Given the description of an element on the screen output the (x, y) to click on. 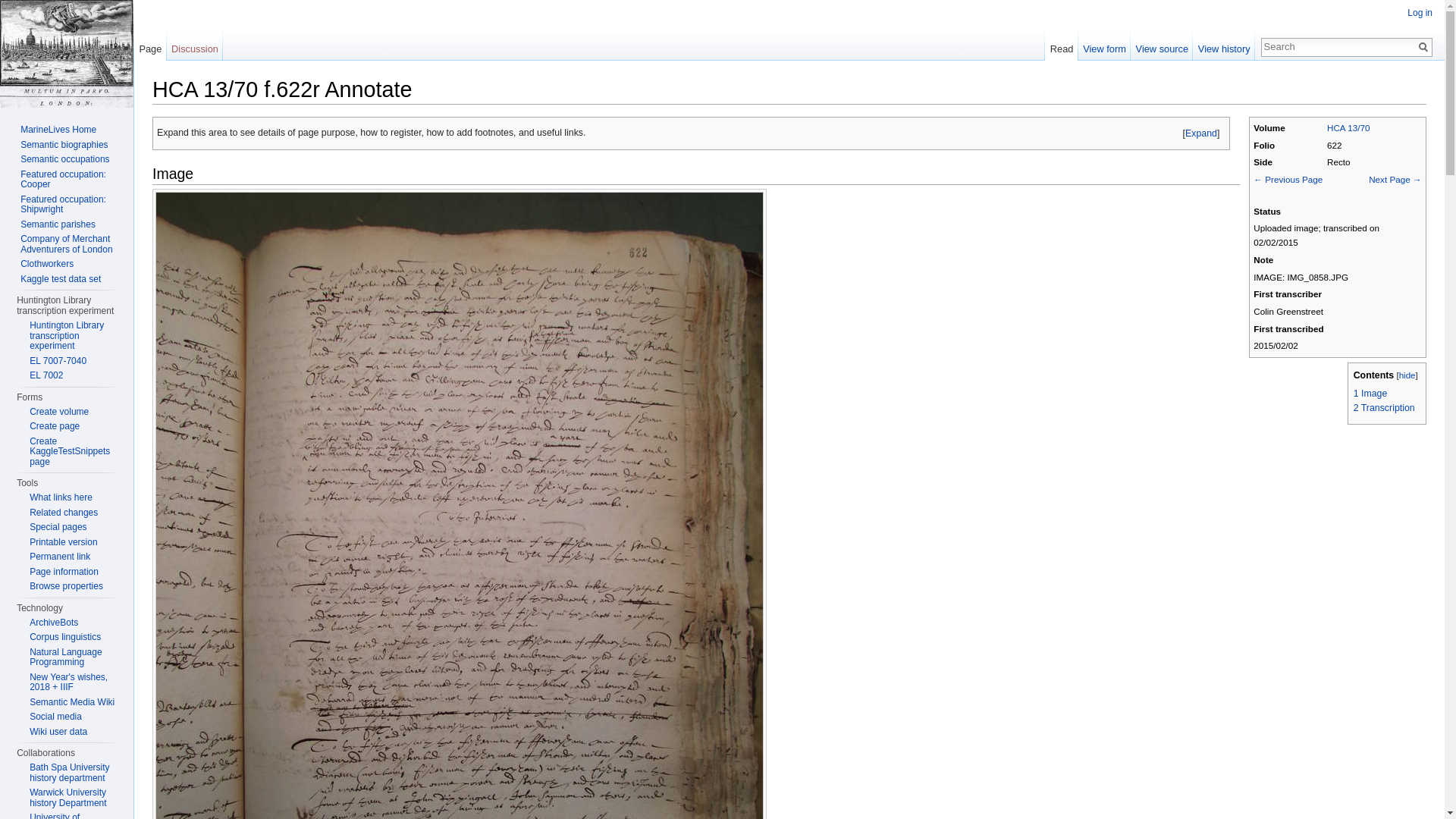
Go (1423, 46)
Discussion (195, 45)
1 Image (1370, 393)
2 Transcription (1384, 407)
hide (1407, 375)
Page (150, 45)
Expand (1201, 132)
Go (1423, 46)
Log in (1419, 12)
